Given the description of an element on the screen output the (x, y) to click on. 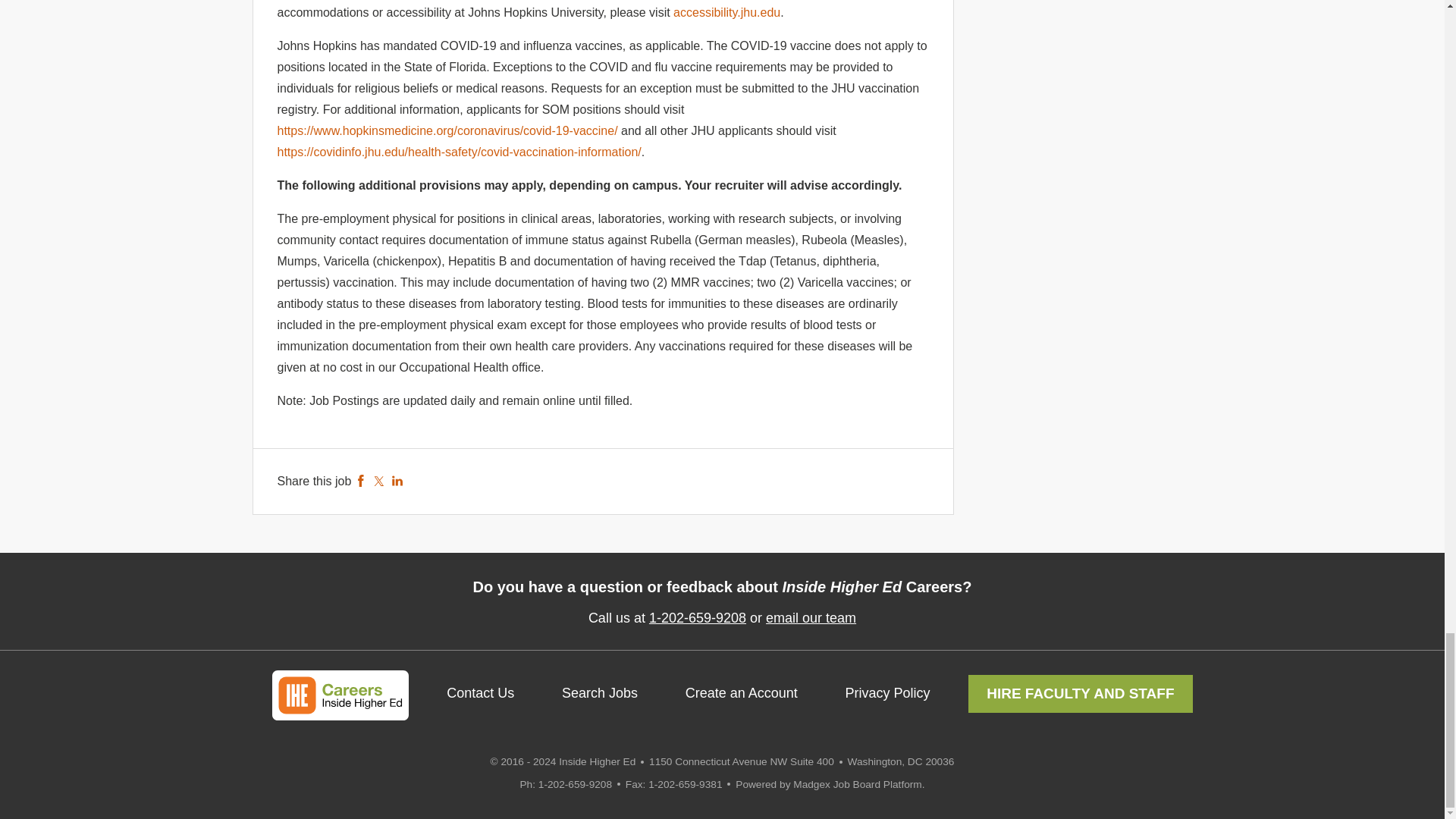
Twitter (378, 481)
Inside Higher Ed Careers (338, 695)
accessibility.jhu.edu (726, 11)
LinkedIn (397, 481)
Facebook (360, 481)
